Given the description of an element on the screen output the (x, y) to click on. 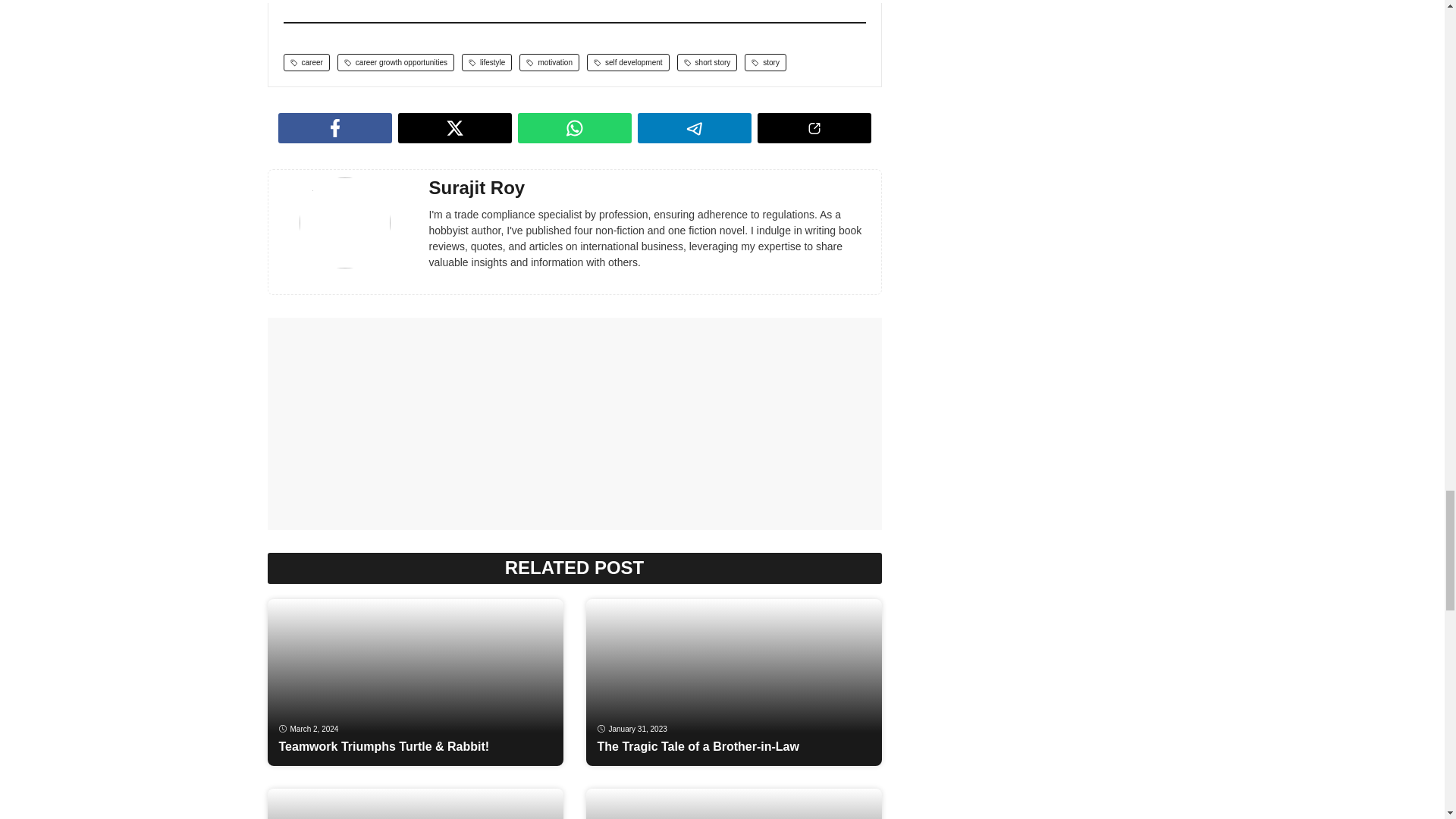
Surajit Roy (477, 187)
lifestyle (486, 62)
short story (707, 62)
self development (627, 62)
career growth opportunities (395, 62)
career (306, 62)
motivation (549, 62)
story (765, 62)
